Given the description of an element on the screen output the (x, y) to click on. 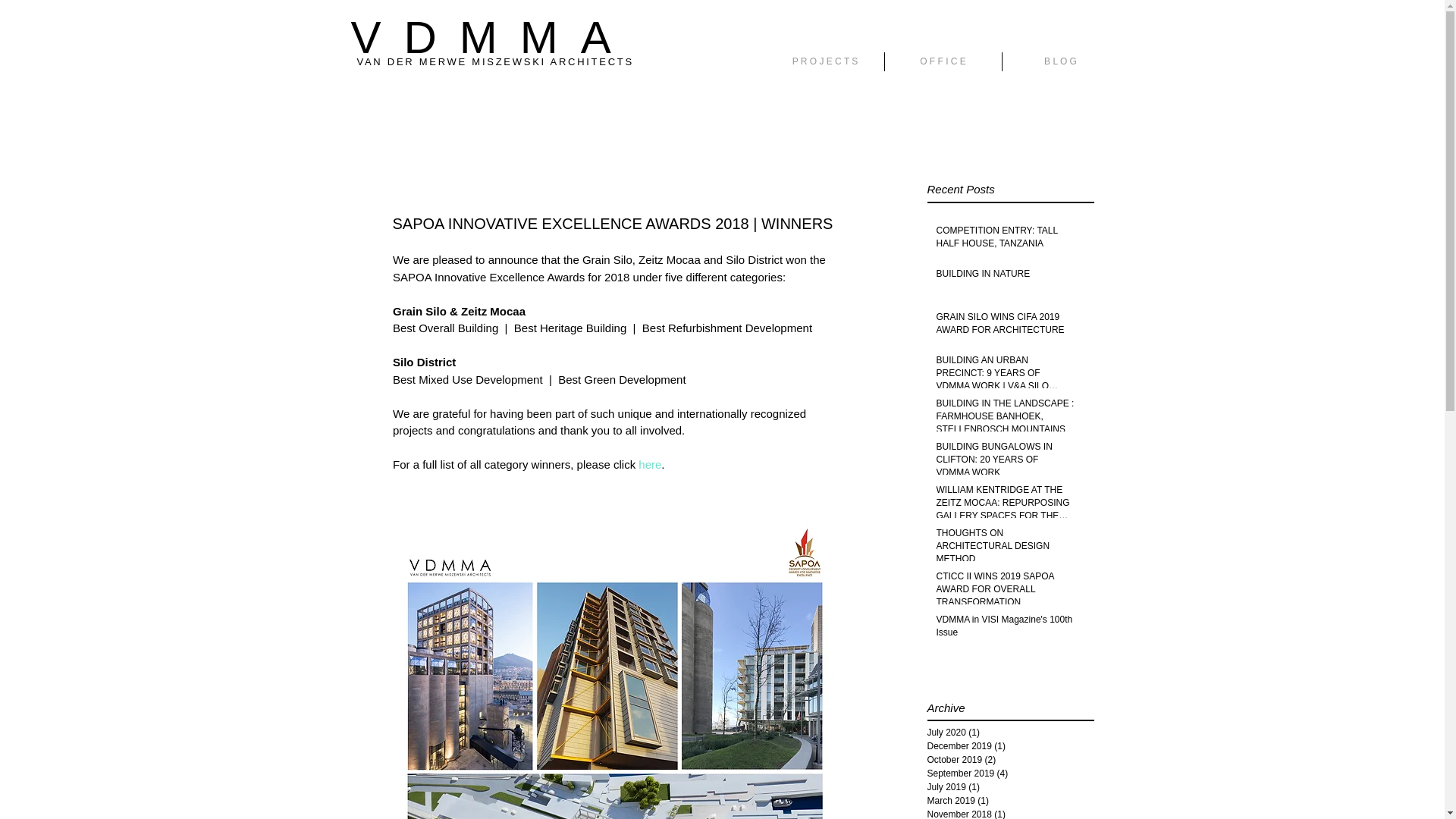
CTICC II WINS 2019 SAPOA AWARD FOR OVERALL TRANSFORMATION (1005, 592)
VDMMA (491, 37)
P R O J E C T S (824, 61)
B L O G (1061, 61)
BUILDING IN NATURE (1005, 276)
VDMMA in VISI Magazine's 100th Issue (1005, 629)
here (650, 463)
BUILDING BUNGALOWS IN CLIFTON: 20 YEARS OF VDMMA WORK (1005, 462)
O F F I C E (942, 61)
THOUGHTS ON ARCHITECTURAL DESIGN METHOD (1005, 548)
COMPETITION ENTRY: TALL HALF HOUSE, TANZANIA (1005, 240)
GRAIN SILO WINS CIFA 2019 AWARD FOR ARCHITECTURE (1005, 327)
